Given the description of an element on the screen output the (x, y) to click on. 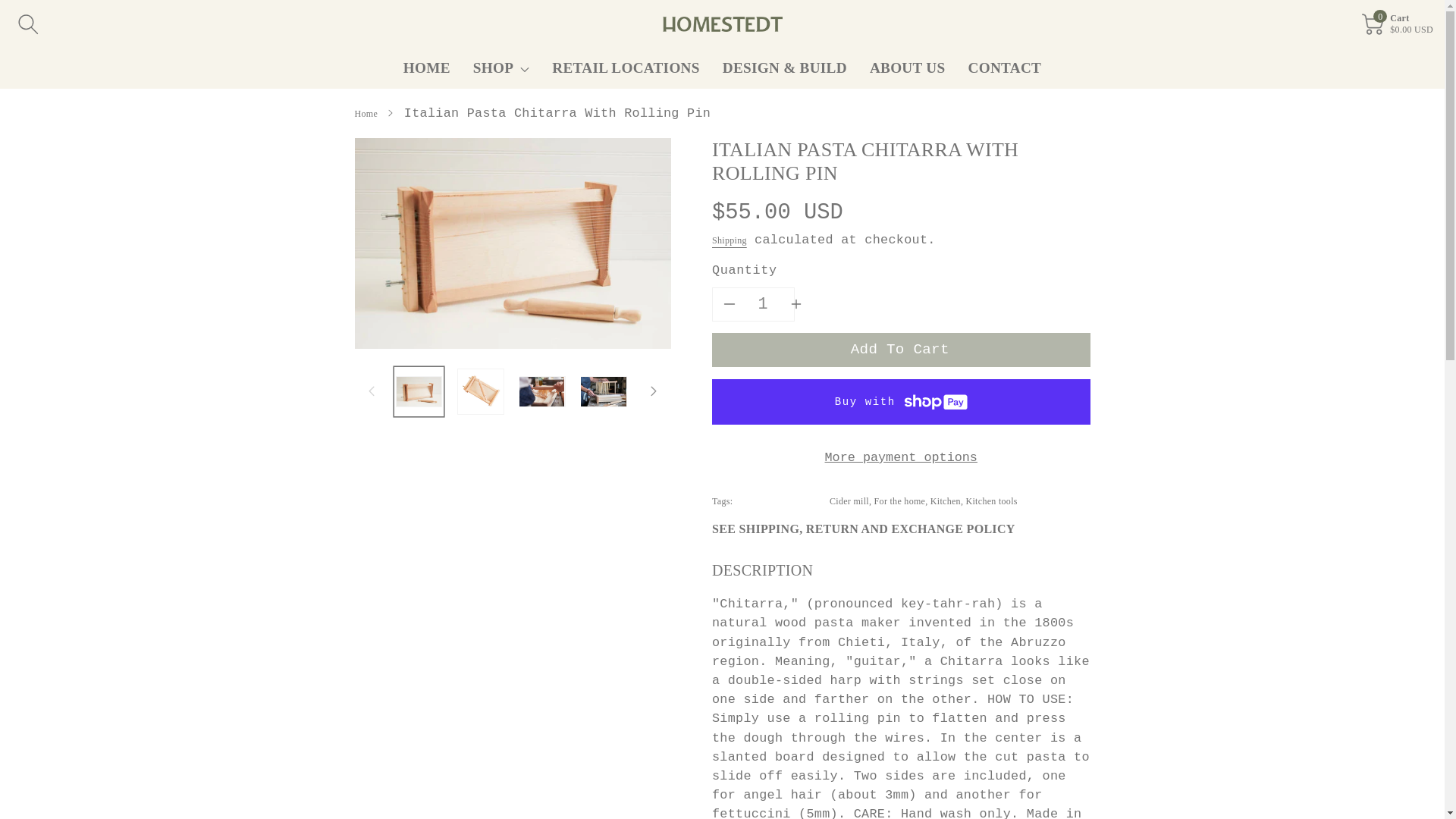
Homestedt Shipping and Returns (862, 528)
Home (366, 113)
1 (761, 304)
Skip To Content (8, 8)
